Given the description of an element on the screen output the (x, y) to click on. 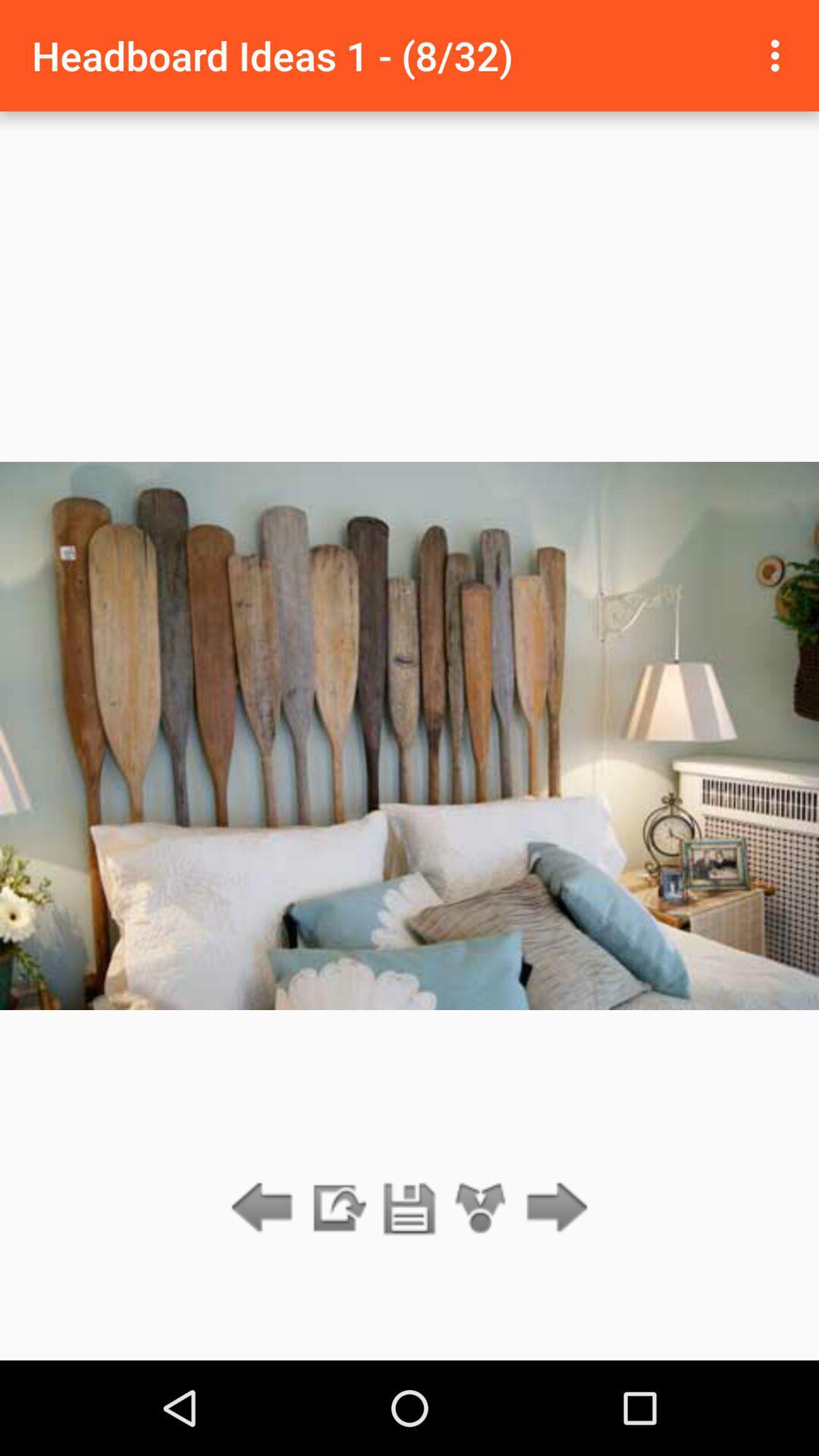
click icon to the right of headboard ideas 1 item (779, 55)
